Given the description of an element on the screen output the (x, y) to click on. 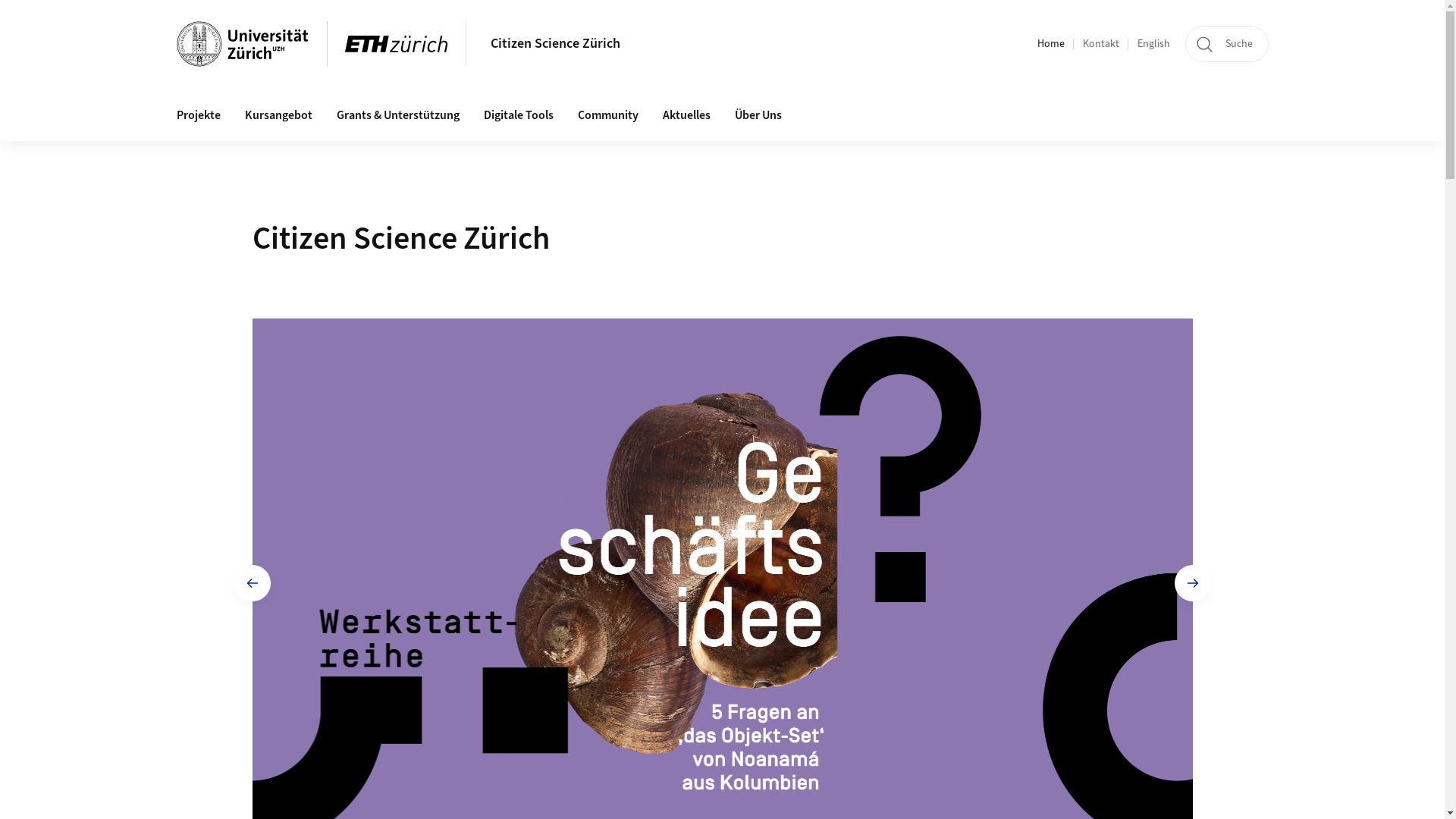
Aktuelles Element type: text (686, 116)
Community Element type: text (607, 116)
Projekte Element type: text (197, 116)
Digitale Tools Element type: text (518, 116)
Suche Element type: text (1225, 43)
Home Element type: text (1050, 44)
Kursangebot Element type: text (277, 116)
English Element type: text (1153, 44)
Kontakt Element type: text (1100, 44)
Vorheriges Bild anzeigen Element type: text (251, 582)
